Given the description of an element on the screen output the (x, y) to click on. 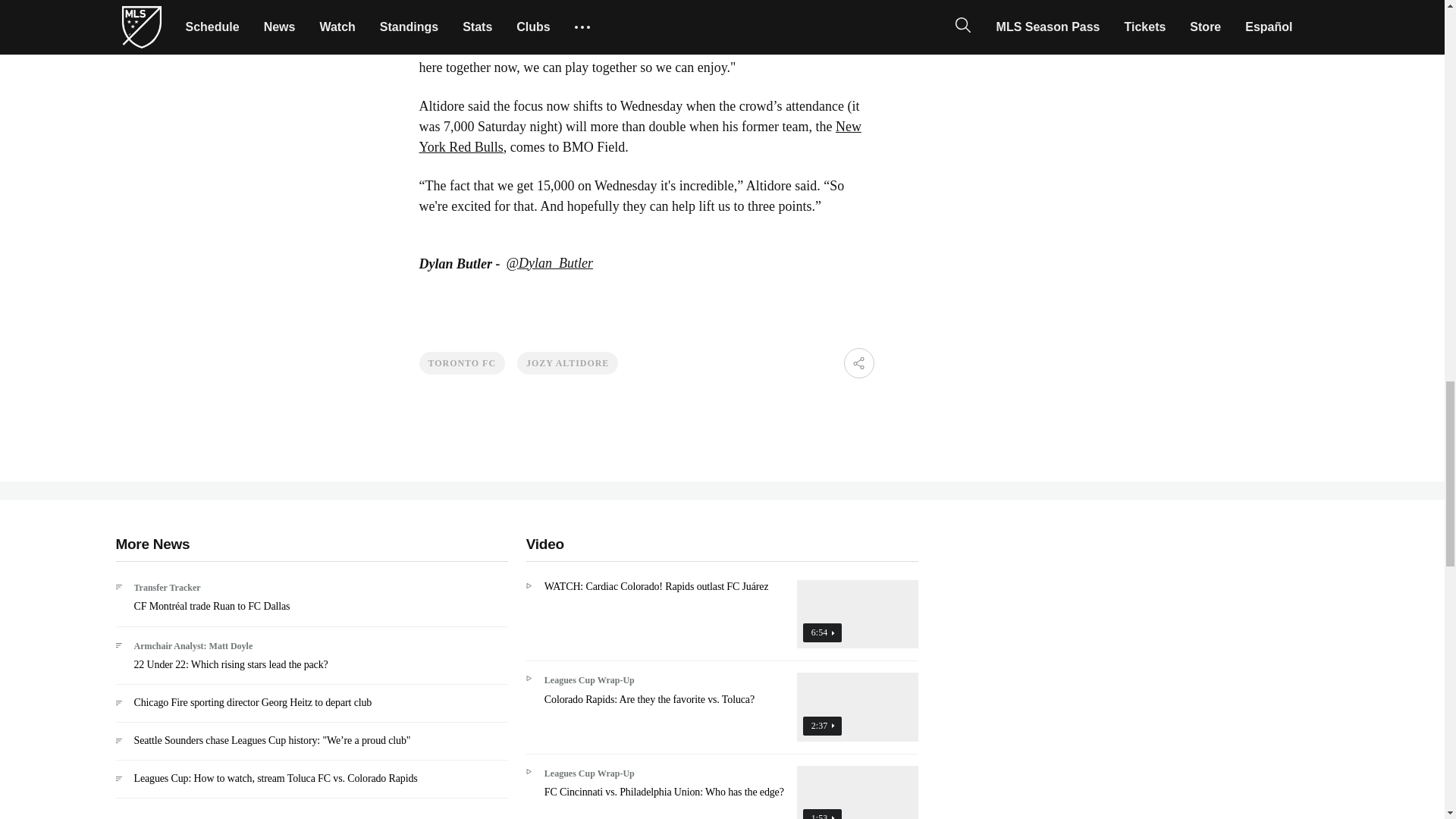
Chicago Fire sporting director Georg Heitz to depart club (310, 708)
22 Under 22: Which rising stars lead the pack? (310, 660)
Go to the Twitter profile (550, 264)
FC Cincinnati vs. Philadelphia Union: Who has the edge? (721, 792)
Colorado Rapids: Are they the favorite vs. Toluca? (721, 712)
